Given the description of an element on the screen output the (x, y) to click on. 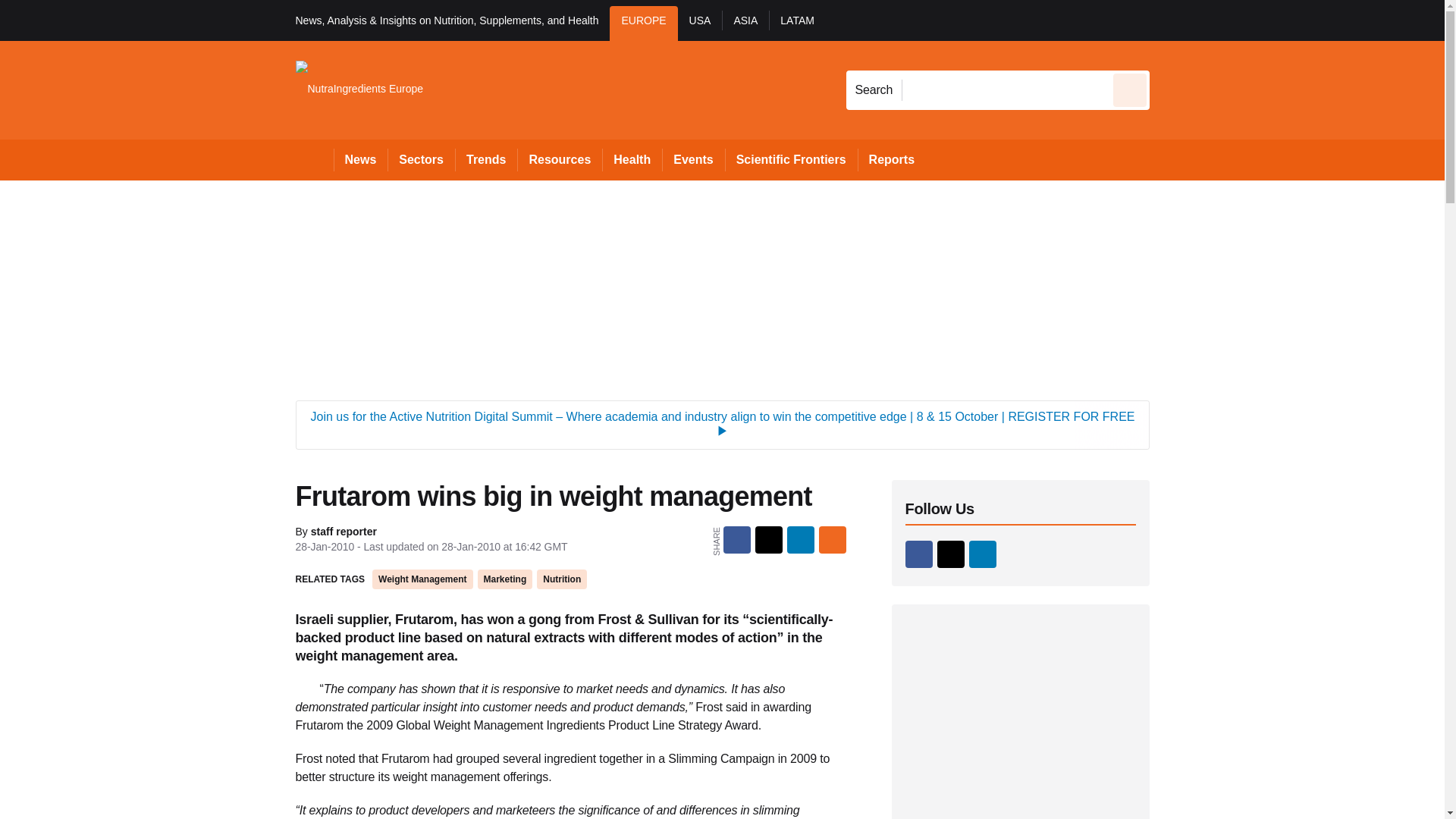
Sectors (420, 159)
Send (1129, 89)
Send (1129, 90)
SUBSCRIBE (1318, 20)
SUBSCRIBE (1362, 20)
My account (1256, 20)
Sign in (1171, 20)
Home (313, 159)
News (360, 159)
